Given the description of an element on the screen output the (x, y) to click on. 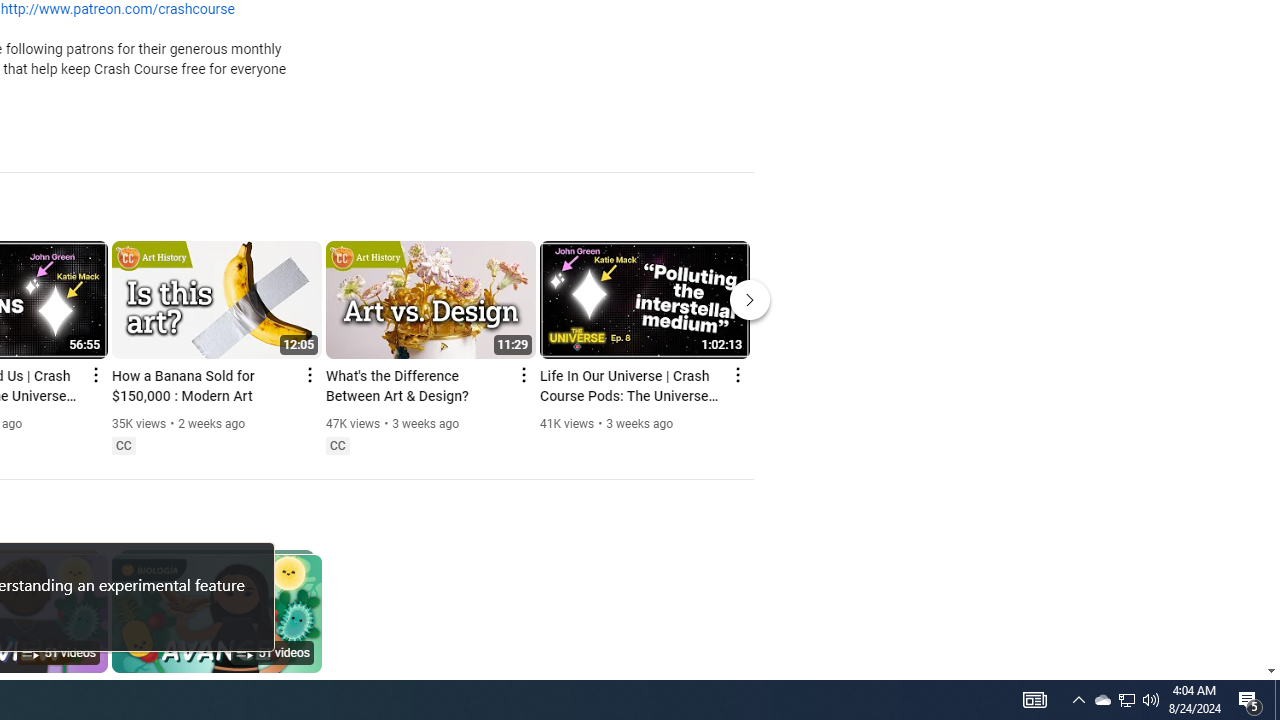
Closed captions (337, 446)
Action menu (736, 374)
http://www.patreon.com/crashcourse (117, 10)
Next (749, 299)
